Given the description of an element on the screen output the (x, y) to click on. 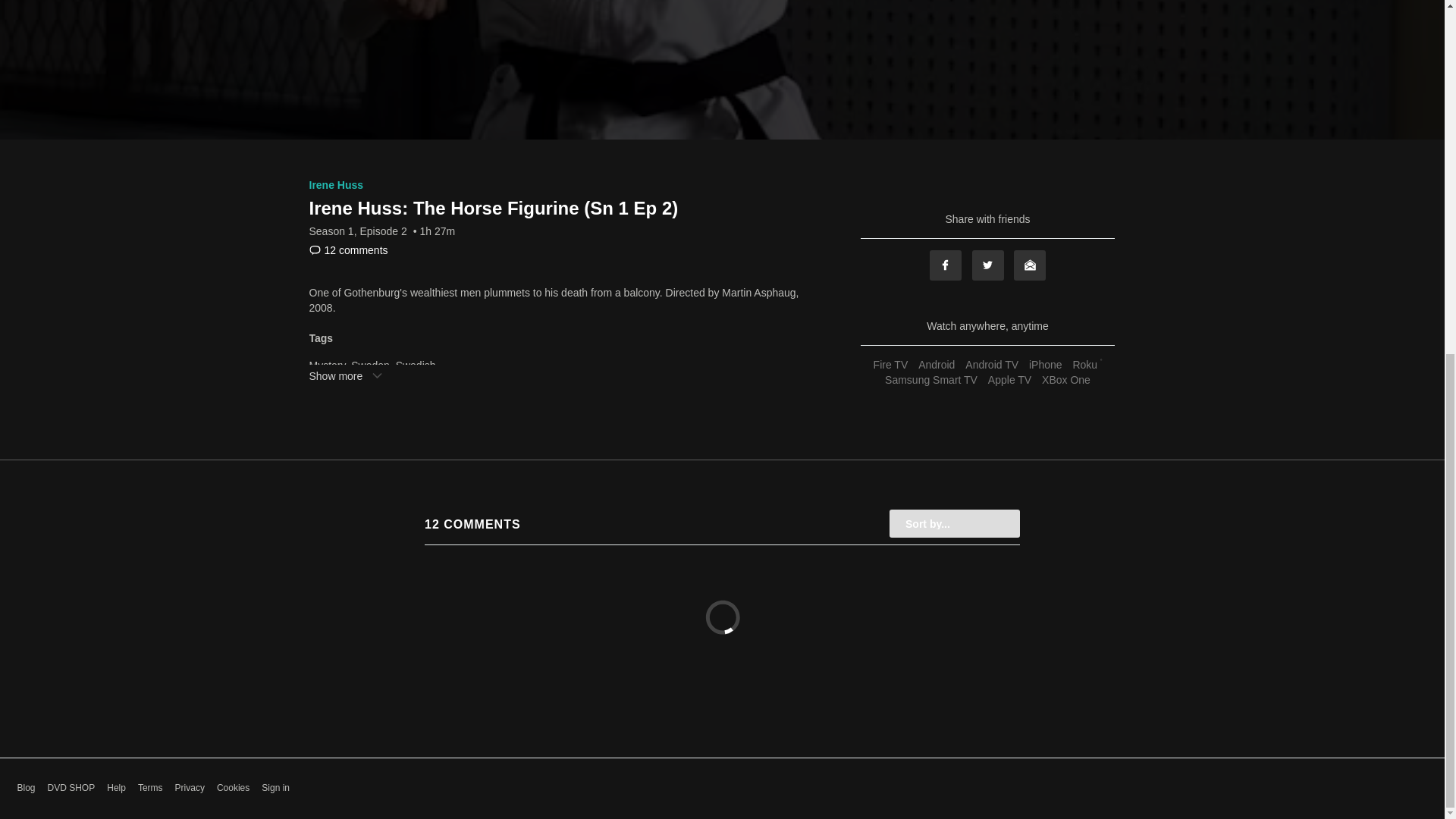
DVD SHOP (72, 788)
Mystery (327, 365)
Email (1029, 265)
Blog (25, 788)
Swedish (415, 365)
Season 1, Episode 2 (357, 231)
View Latest Comments (348, 250)
XBox One (1066, 379)
Sweden (370, 365)
Fire TV (890, 364)
Android (936, 364)
Samsung Smart TV (930, 379)
Twitter (988, 265)
Facebook (945, 265)
iPhone (1045, 364)
